Given the description of an element on the screen output the (x, y) to click on. 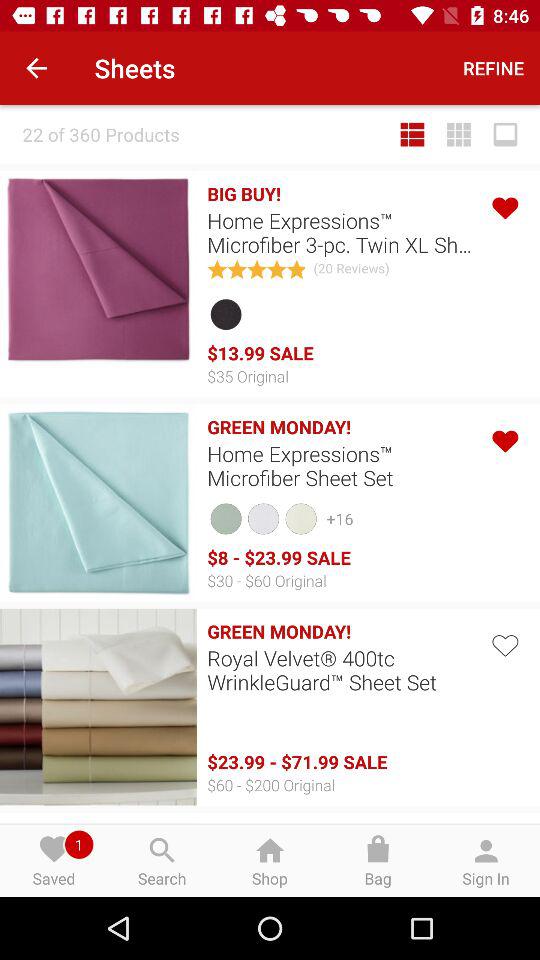
toggle favorite option (504, 438)
